Given the description of an element on the screen output the (x, y) to click on. 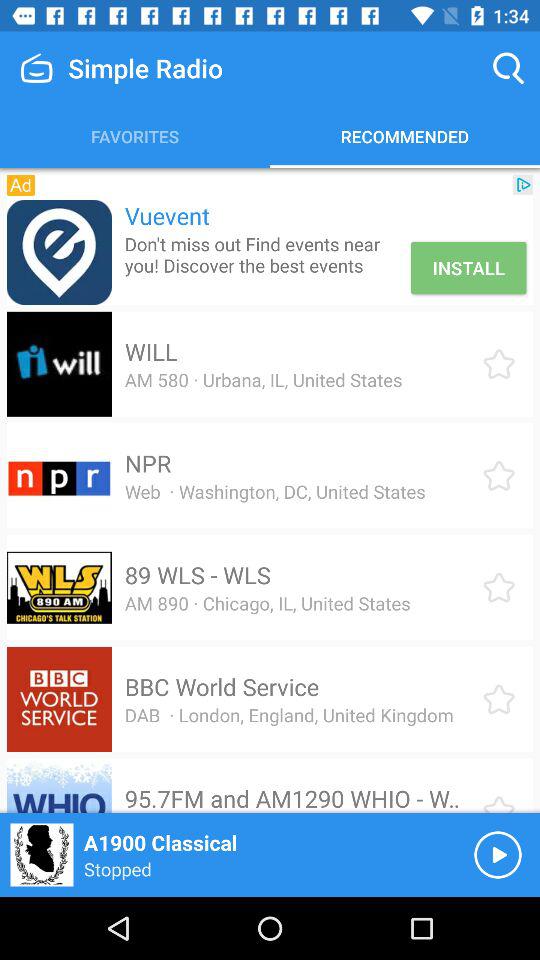
press the item above the 95 7fm and item (288, 714)
